Given the description of an element on the screen output the (x, y) to click on. 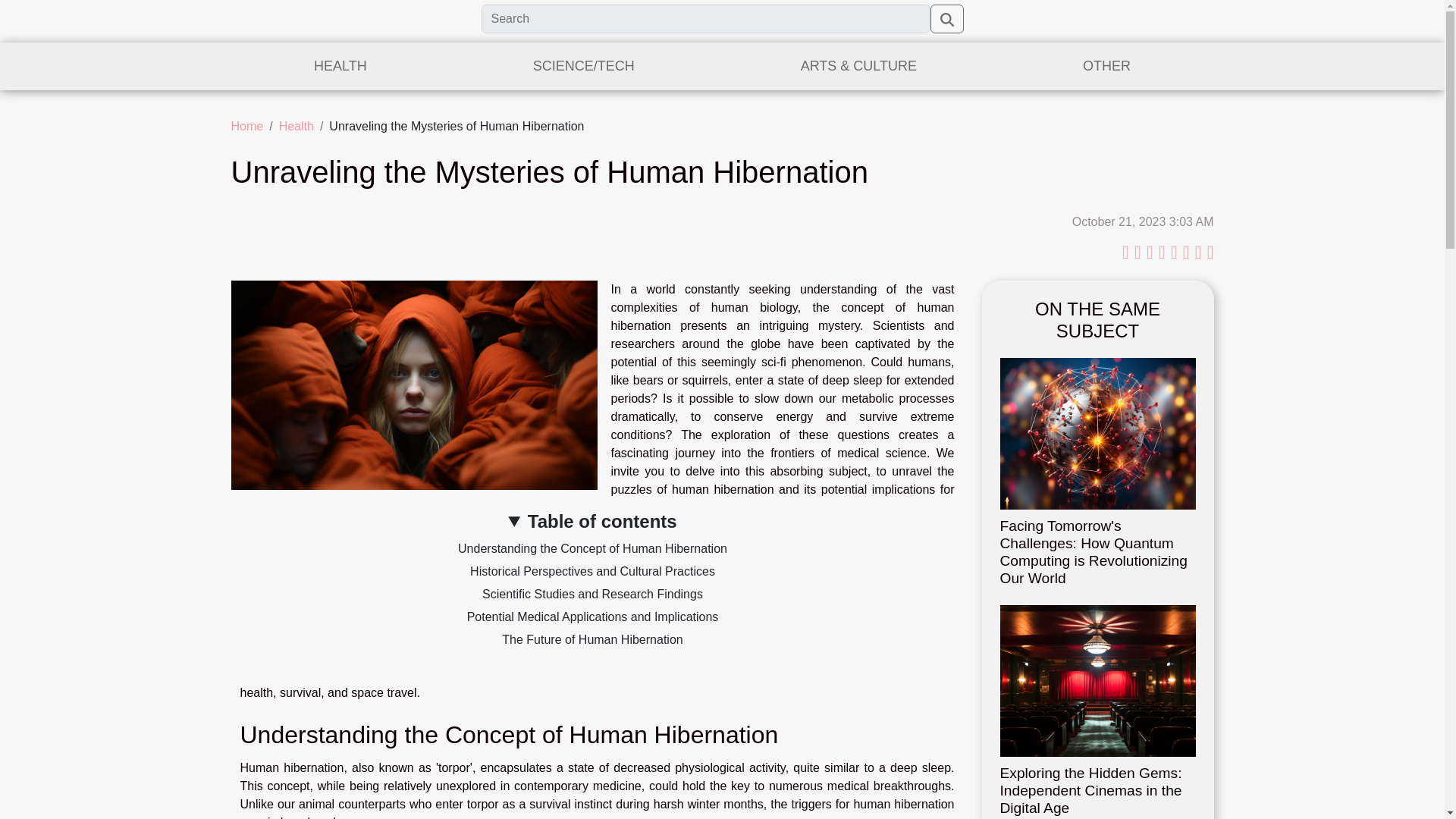
HEALTH (340, 66)
Scientific Studies and Research Findings (592, 594)
Health (296, 125)
Historical Perspectives and Cultural Practices (592, 571)
The Future of Human Hibernation (592, 639)
Home (246, 125)
Potential Medical Applications and Implications (593, 616)
Health (296, 125)
OTHER (1107, 66)
Understanding the Concept of Human Hibernation (592, 548)
